Given the description of an element on the screen output the (x, y) to click on. 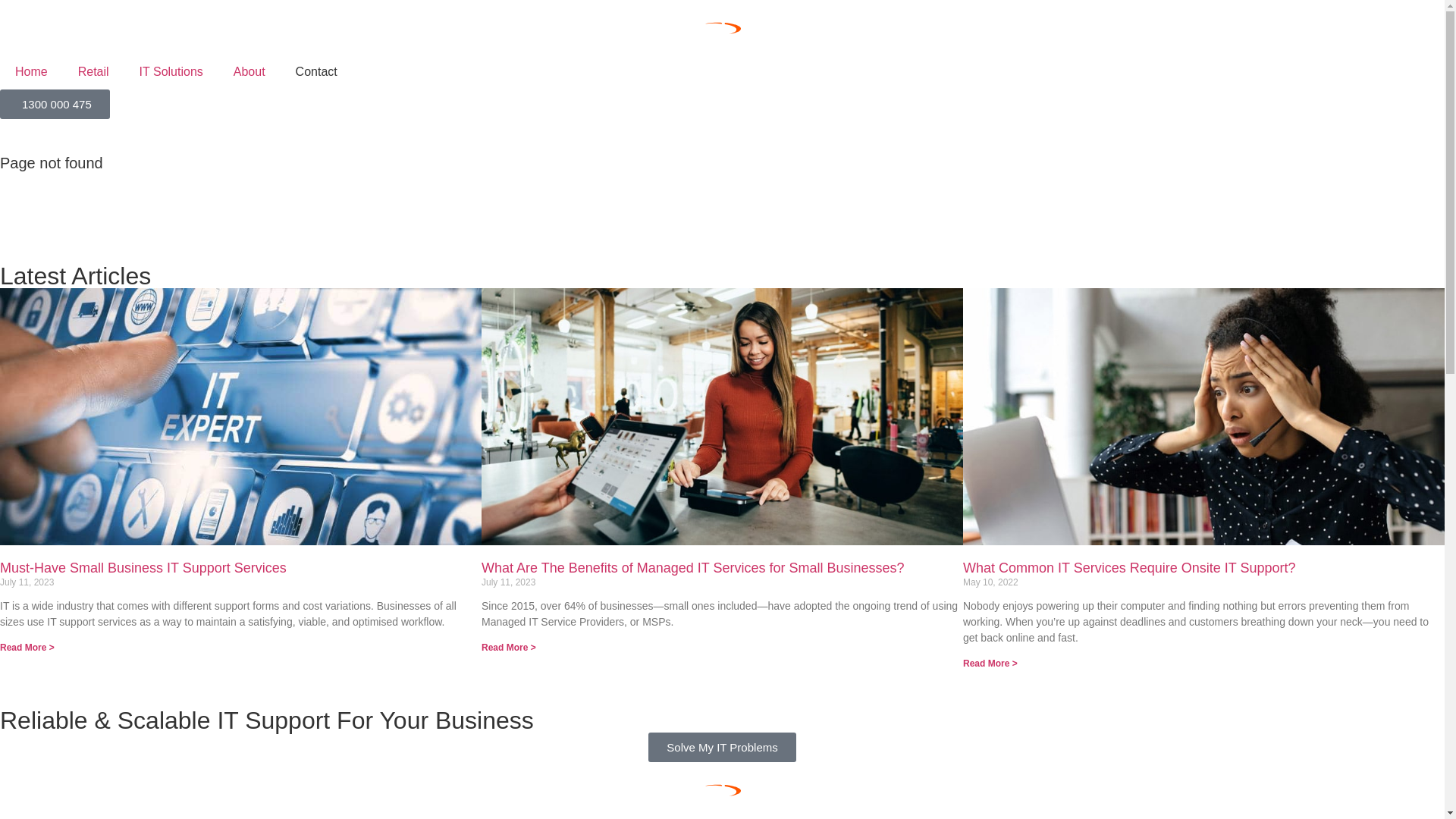
Retail Element type: text (93, 71)
About Element type: text (249, 71)
IT Solutions Element type: text (171, 71)
Read More > Element type: text (990, 663)
Solve My IT Problems Element type: text (721, 747)
Home Element type: text (31, 71)
Must-Have Small Business IT Support Services Element type: text (143, 567)
Read More > Element type: text (508, 647)
1300 000 475 Element type: text (54, 104)
Contact Element type: text (316, 71)
What Common IT Services Require Onsite IT Support? Element type: text (1129, 567)
Read More > Element type: text (27, 647)
